Given the description of an element on the screen output the (x, y) to click on. 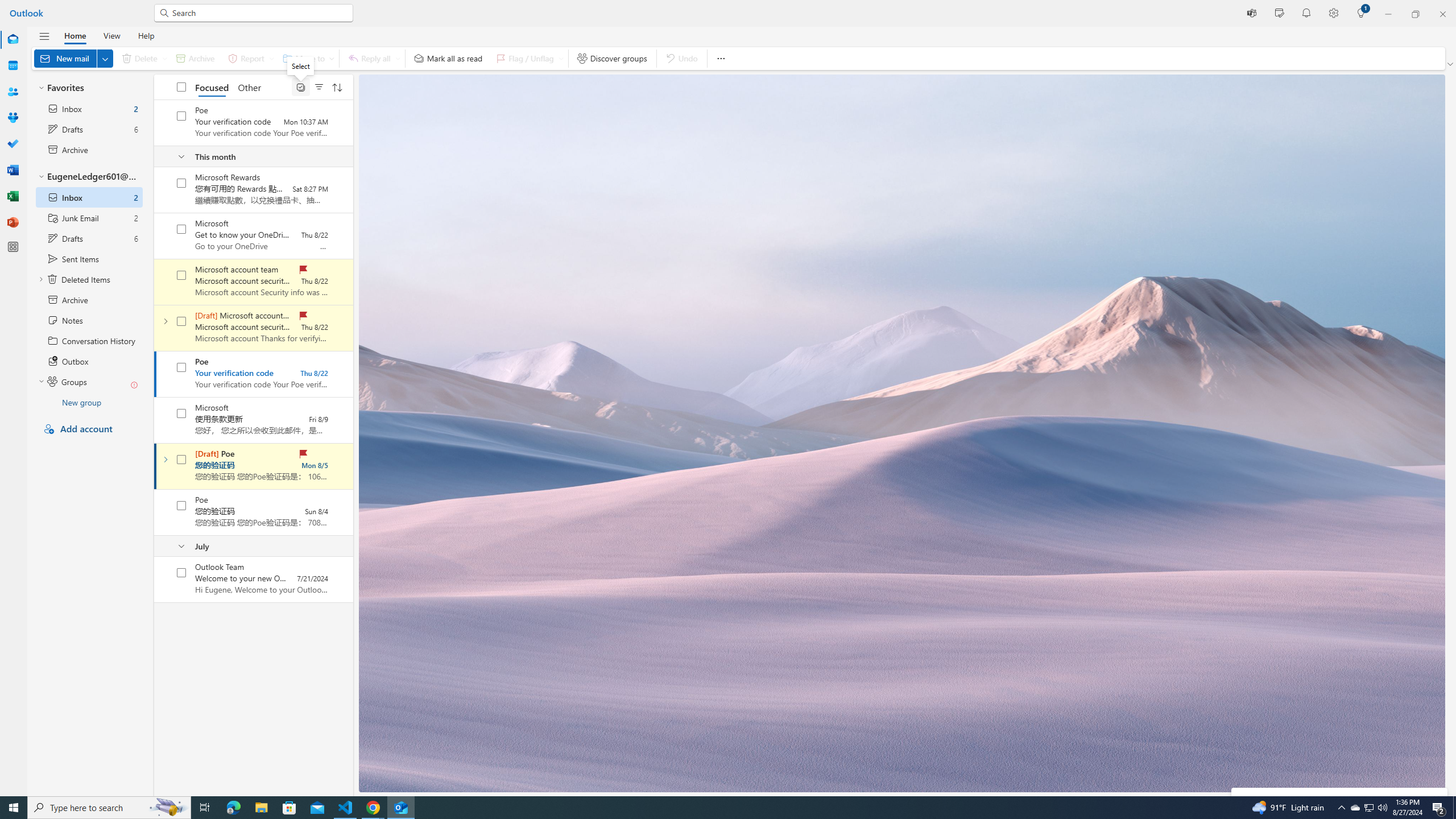
PowerPoint (12, 222)
Reply all (372, 58)
Home (74, 35)
Mail (12, 39)
AutomationID: checkbox-205 (180, 459)
Excel (12, 196)
Select all messages (180, 86)
Select a conversation (180, 572)
More options (720, 58)
AutomationID: checkbox-124 (180, 229)
People (12, 92)
